Given the description of an element on the screen output the (x, y) to click on. 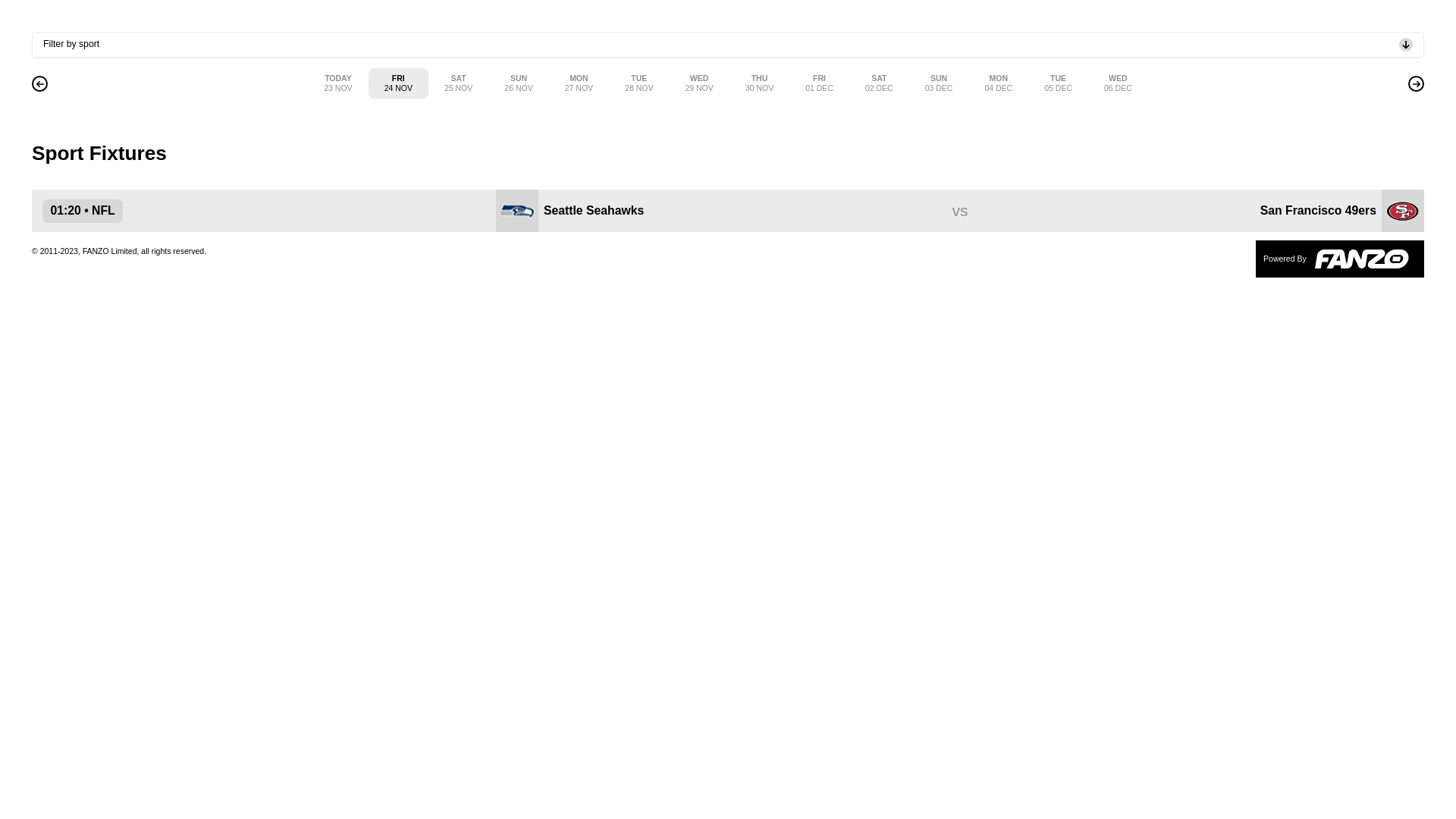
FRI
01 DEC Element type: text (819, 83)
SAT
02 DEC Element type: text (879, 83)
WED
06 DEC Element type: text (1118, 83)
Powered By Element type: text (1339, 258)
MON
04 DEC Element type: text (998, 83)
Filter by sport Element type: text (727, 44)
SAT
25 NOV Element type: text (458, 83)
TUE
05 DEC Element type: text (1058, 83)
TUE
28 NOV Element type: text (638, 83)
SUN
26 NOV Element type: text (518, 83)
MON
27 NOV Element type: text (578, 83)
WED
29 NOV Element type: text (698, 83)
FRI
24 NOV Element type: text (398, 83)
THU
30 NOV Element type: text (759, 83)
TODAY
23 NOV Element type: text (337, 83)
SUN
03 DEC Element type: text (939, 83)
